Given the description of an element on the screen output the (x, y) to click on. 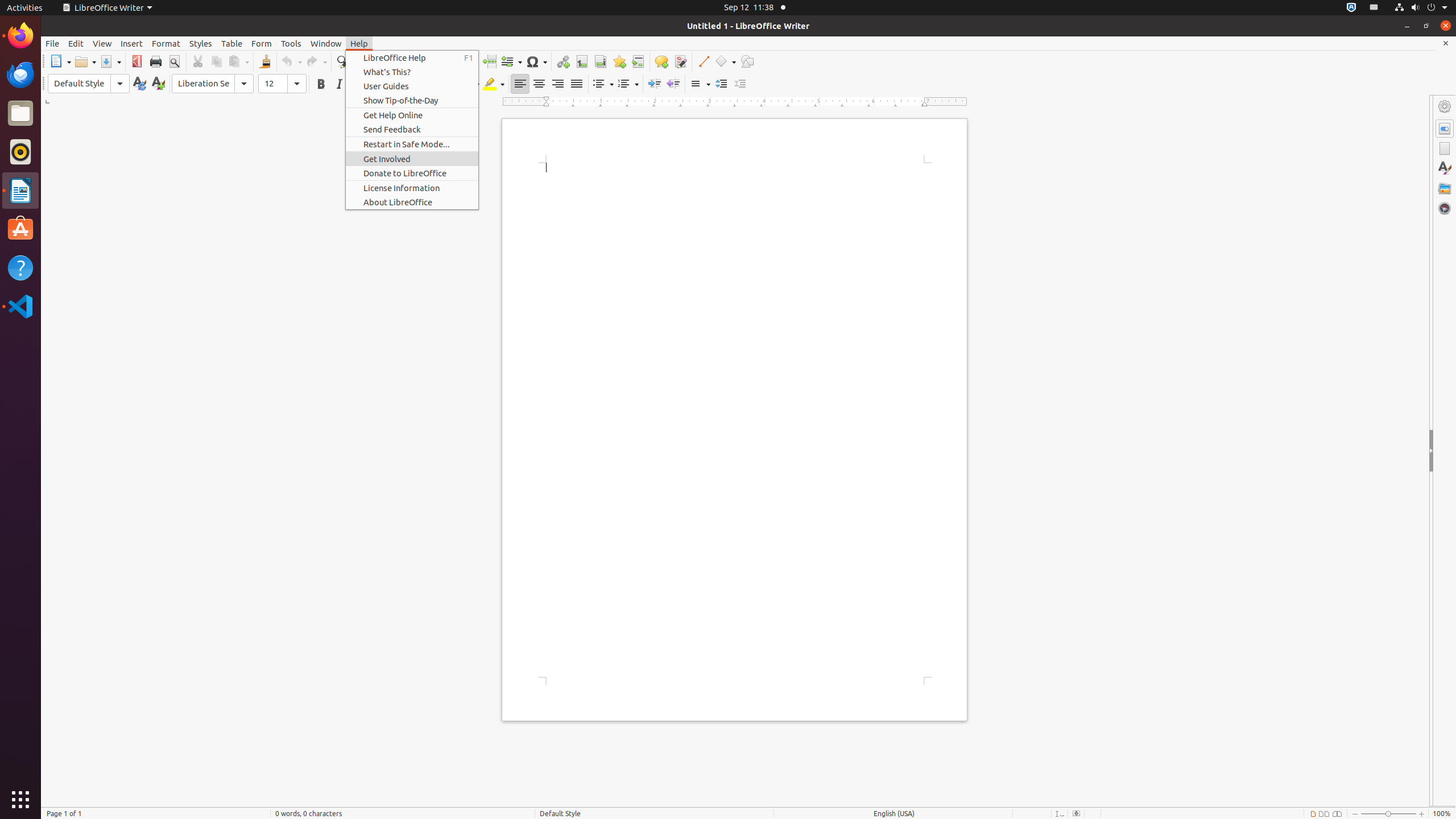
Endnote Element type: push-button (599, 61)
Format Element type: menu (165, 43)
Gallery Element type: radio-button (1444, 188)
Page Element type: radio-button (1444, 148)
Hyperlink Element type: toggle-button (562, 61)
